Given the description of an element on the screen output the (x, y) to click on. 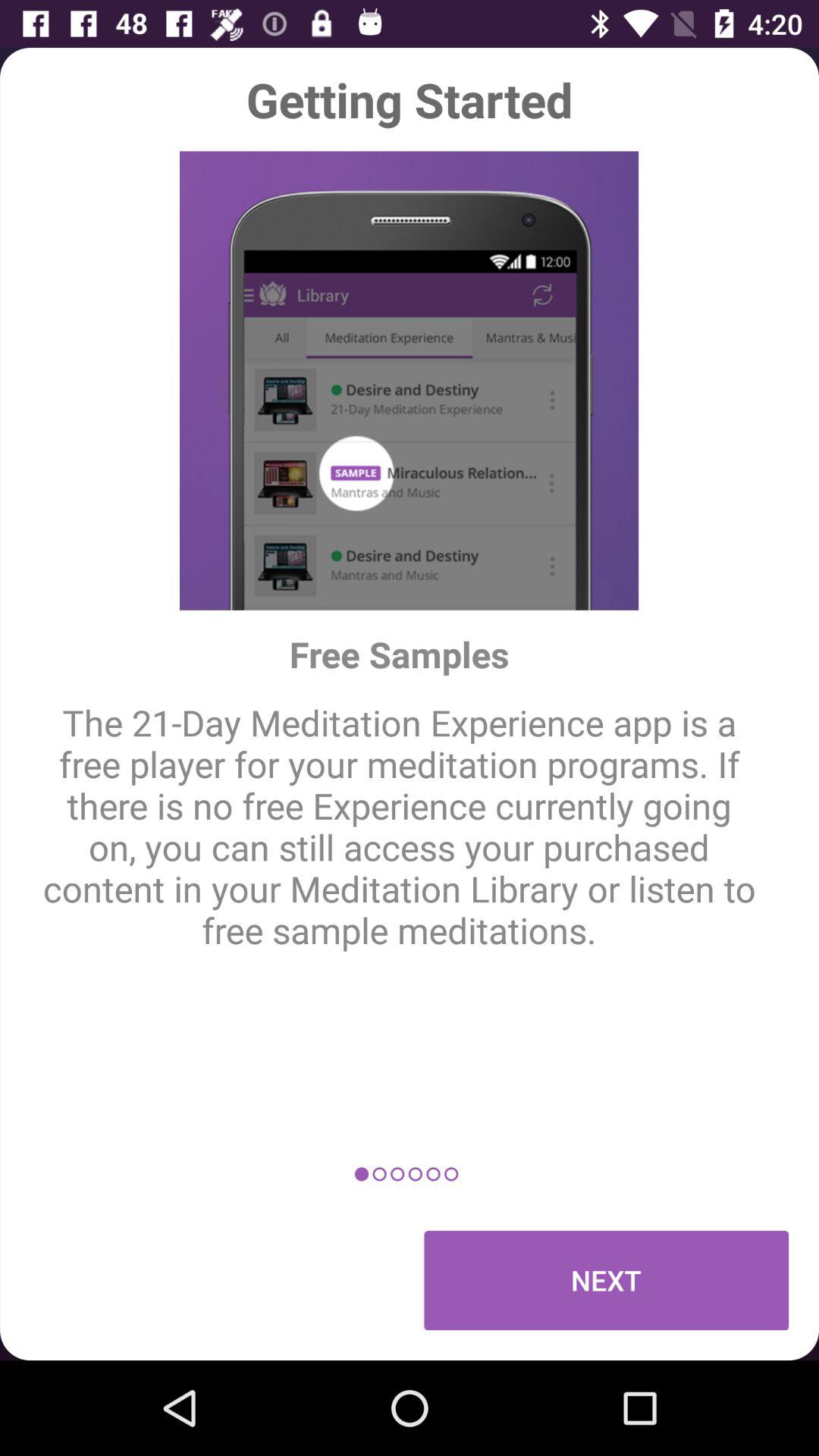
launch next at the bottom right corner (606, 1280)
